Given the description of an element on the screen output the (x, y) to click on. 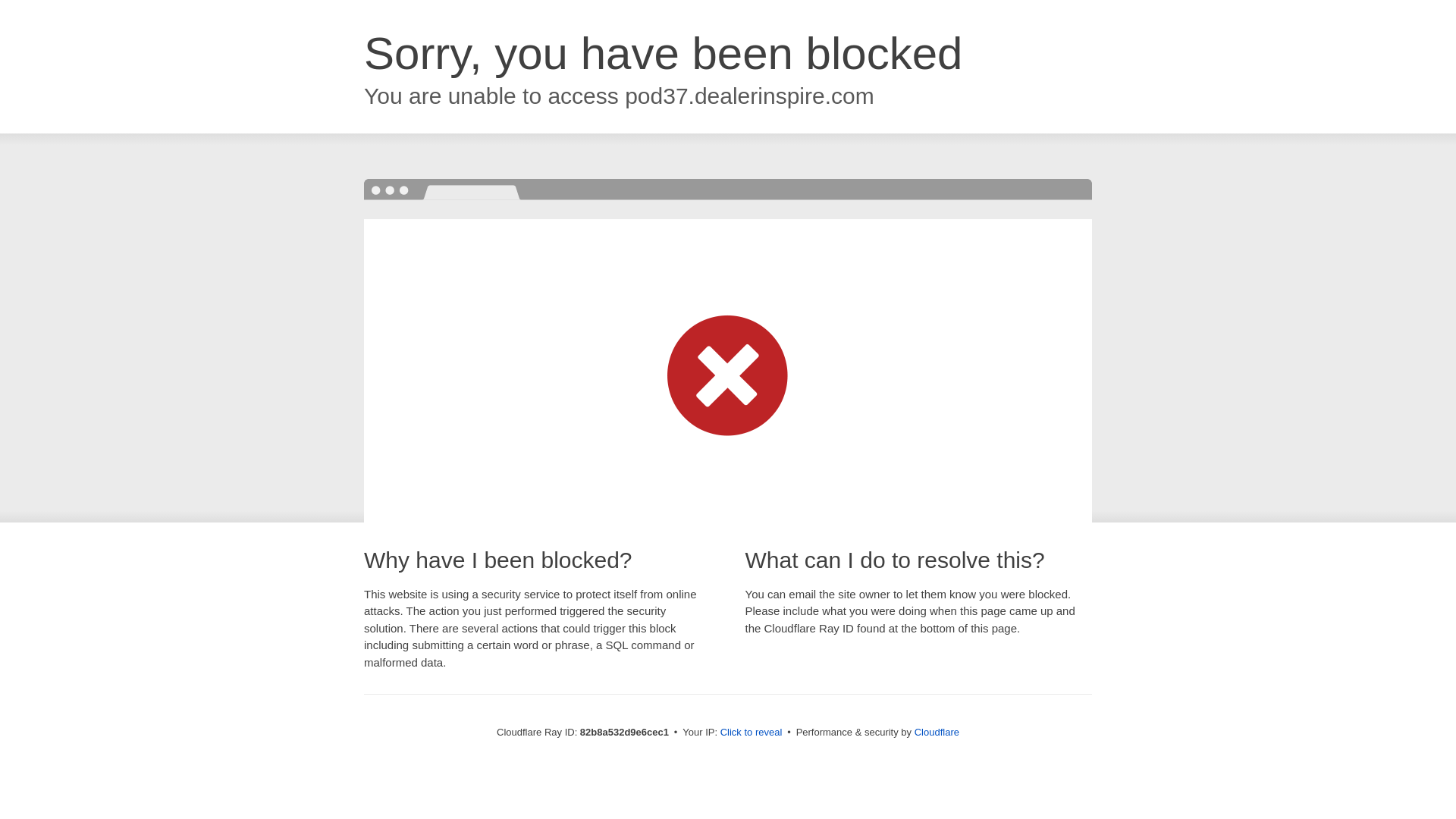
Cloudflare Element type: text (936, 731)
Click to reveal Element type: text (751, 732)
